Given the description of an element on the screen output the (x, y) to click on. 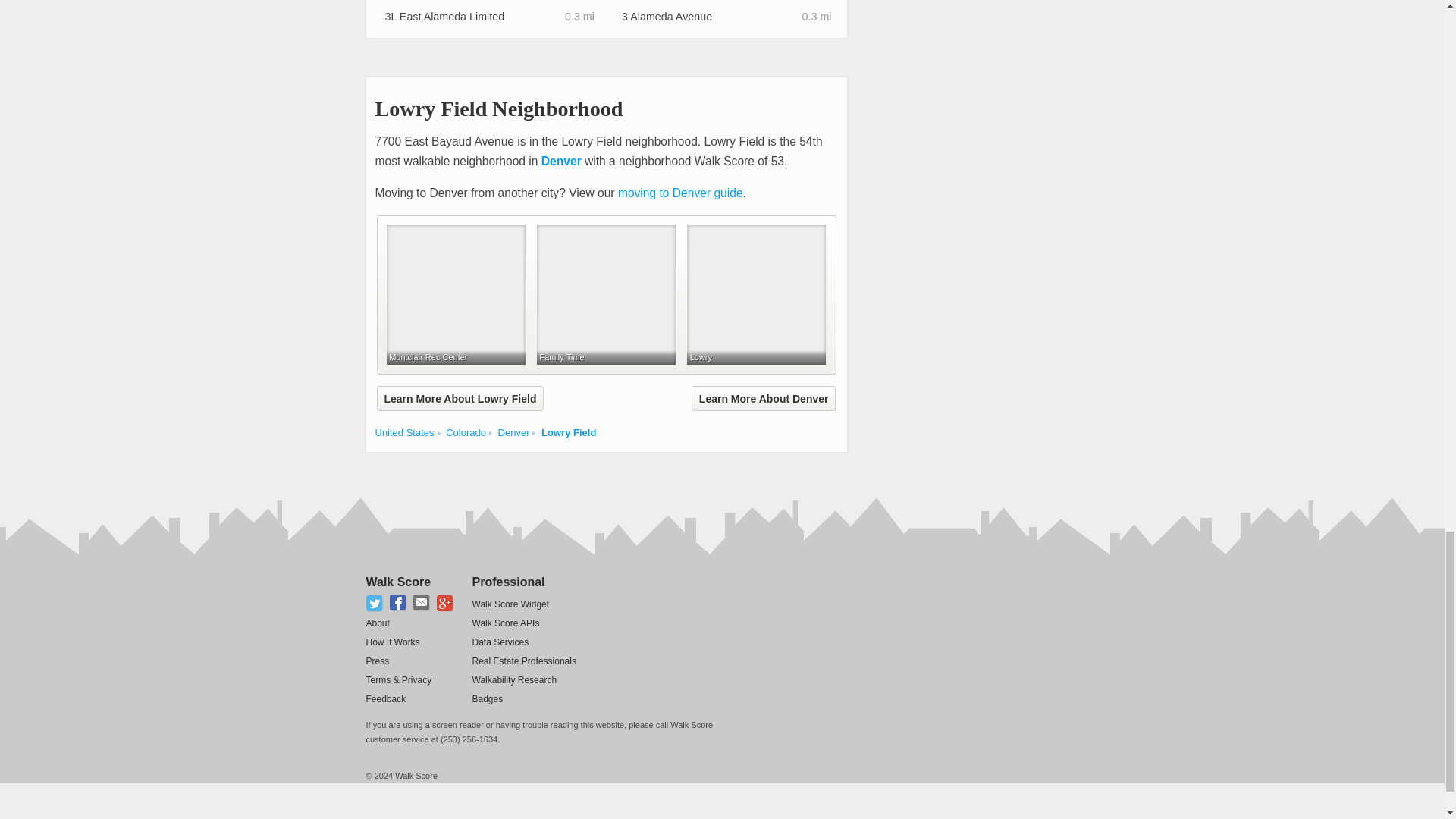
Cities in Colorado state (465, 432)
United States Walkability Rankings (403, 432)
Denver (560, 160)
moving to Denver guide (679, 192)
